Given the description of an element on the screen output the (x, y) to click on. 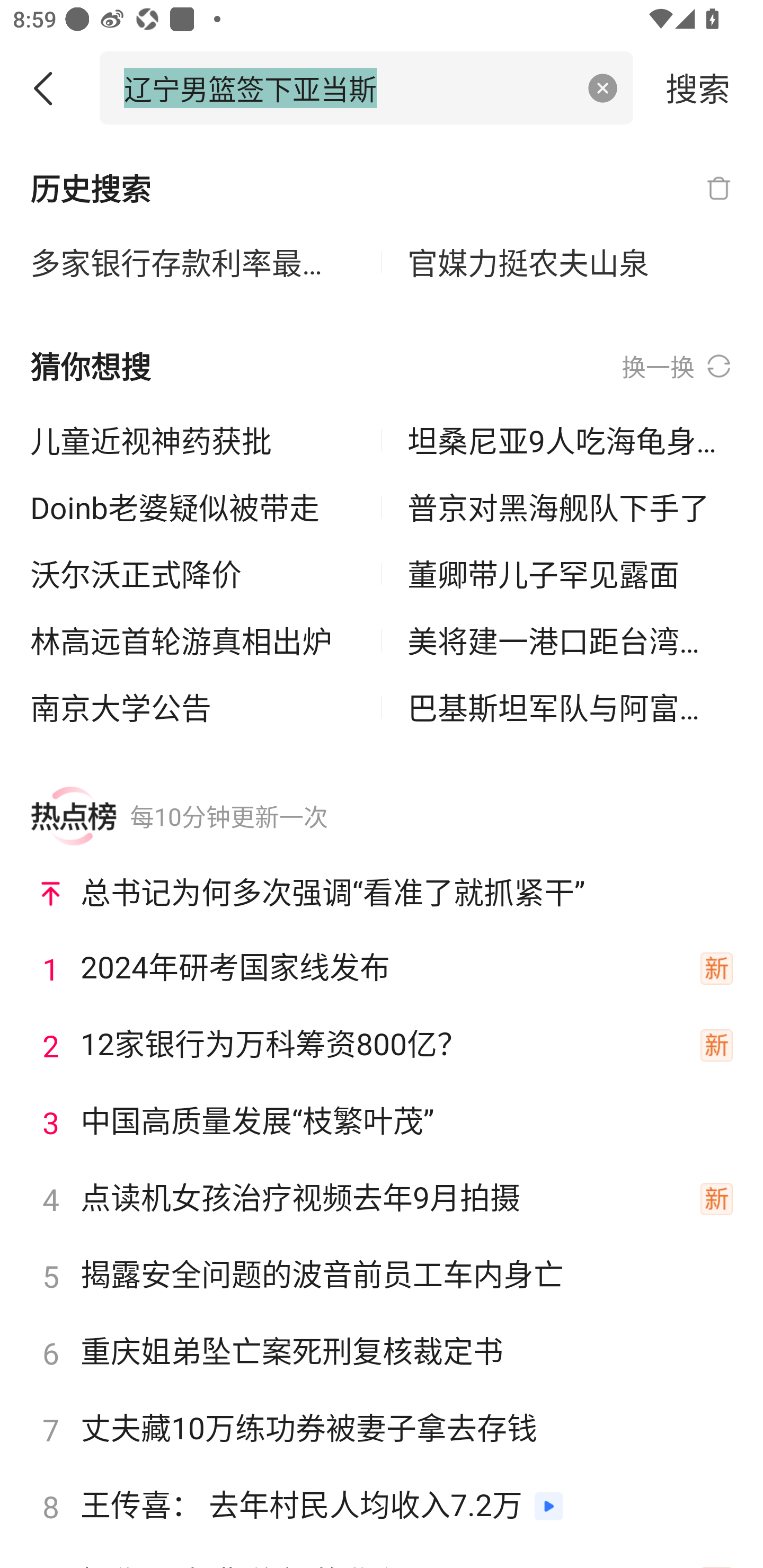
返回 (49, 87)
搜索 (698, 87)
辽宁男篮签下亚当斯 (347, 87)
清空 (602, 88)
多家银行存款利率最高达10% (193, 262)
官媒力挺农夫山泉 (569, 262)
换一换 (676, 366)
儿童近视神药获批 (193, 439)
坦桑尼亚9人吃海龟身亡 (569, 439)
Doinb老婆疑似被带走 (193, 506)
普京对黑海舰队下手了 (569, 506)
沃尔沃正式降价 (193, 573)
董卿带儿子罕见露面 (569, 573)
林高远首轮游真相出炉 (193, 640)
美将建一港口距台湾不到200公里 (569, 640)
南京大学公告 (193, 707)
巴基斯坦军队与阿富汗发生交火 (569, 707)
